Given the description of an element on the screen output the (x, y) to click on. 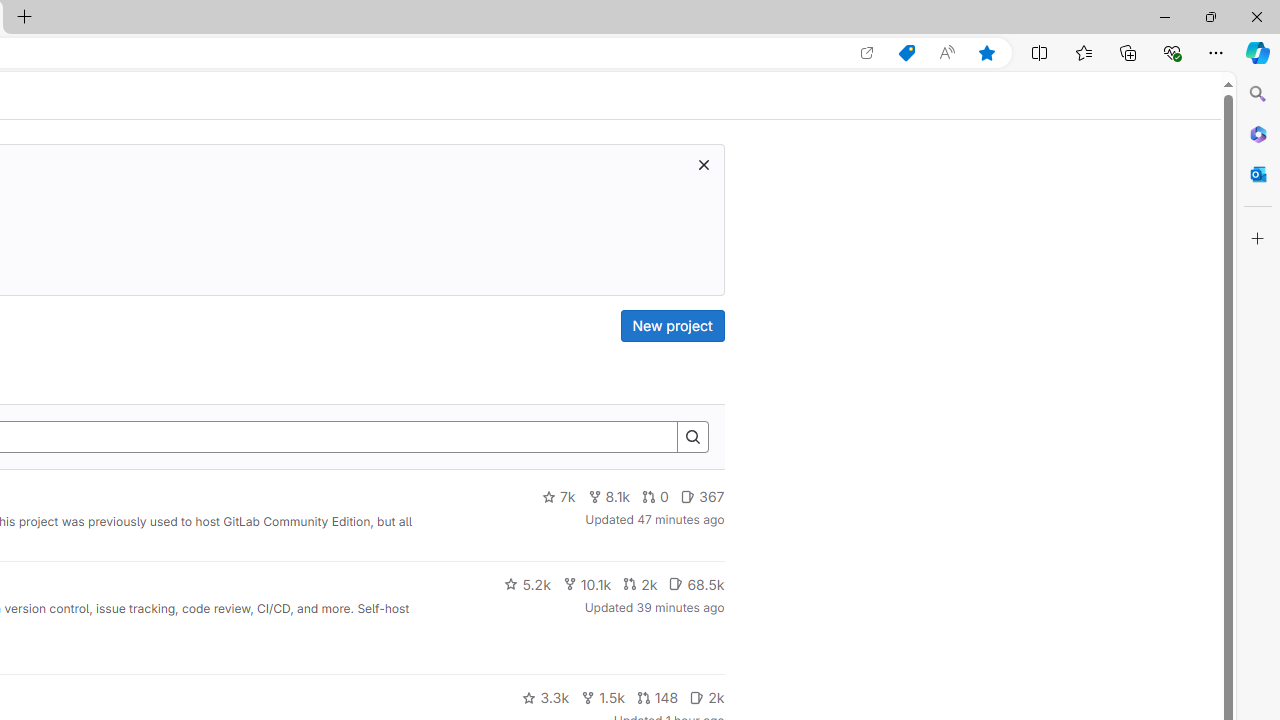
148 (657, 697)
8.1k (609, 497)
68.5k (696, 583)
2k (706, 697)
0 (655, 497)
Class: s14 gl-mr-2 (697, 696)
Open in app (867, 53)
